Given the description of an element on the screen output the (x, y) to click on. 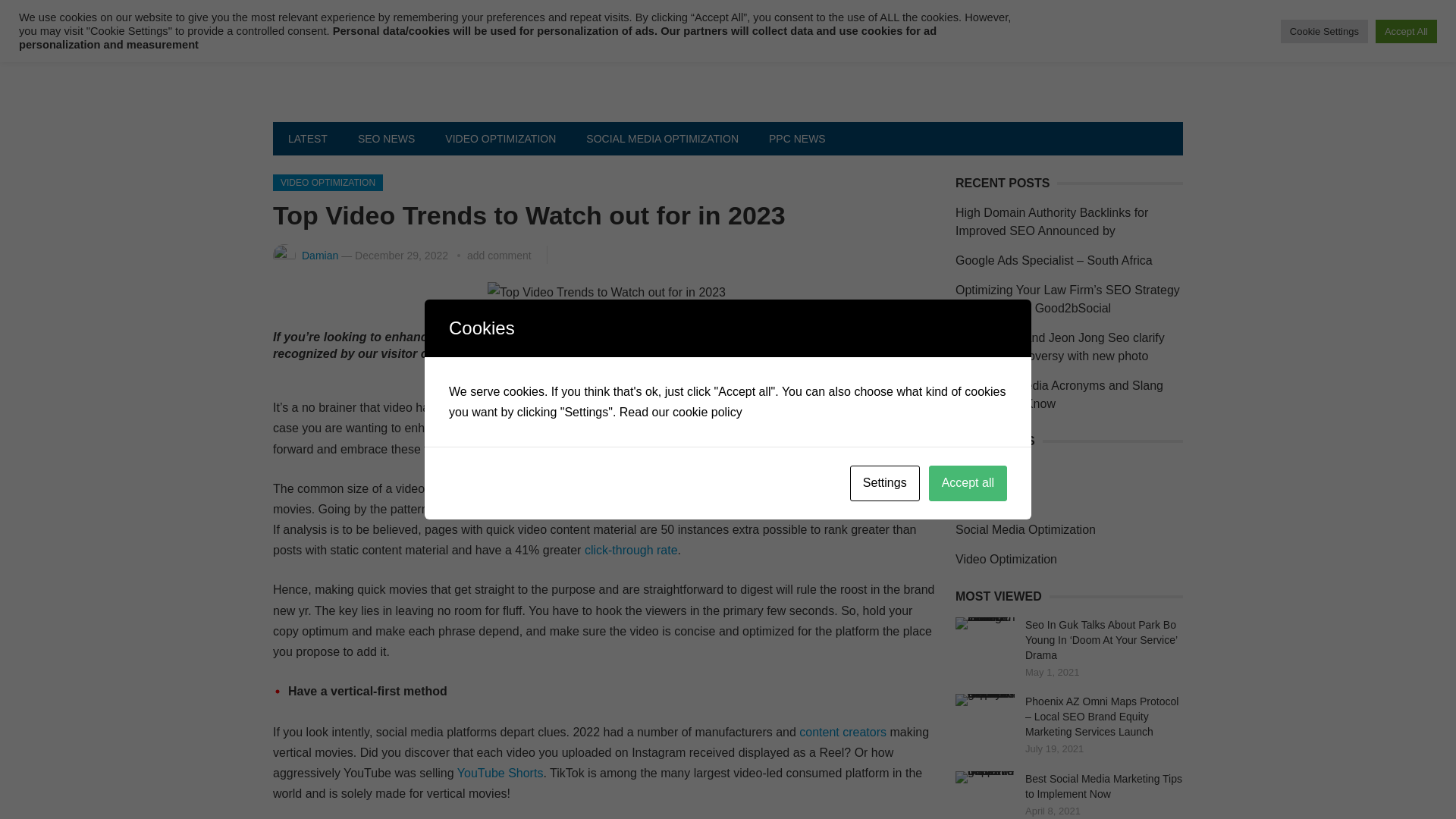
click-through rate (631, 549)
Contact Us (373, 15)
Posts by Damian (319, 255)
Privacy Policy (464, 15)
Advertisement (643, 15)
Damian (319, 255)
add comment (499, 255)
PPC NEWS (797, 138)
View all posts in Video Optimization (327, 182)
SOCIAL MEDIA OPTIMIZATION (662, 138)
VIDEO OPTIMIZATION (499, 138)
Top Video Trends to Watch out for in 2023 (606, 291)
Home (302, 15)
VIDEO OPTIMIZATION (327, 182)
Instagram (651, 488)
